Given the description of an element on the screen output the (x, y) to click on. 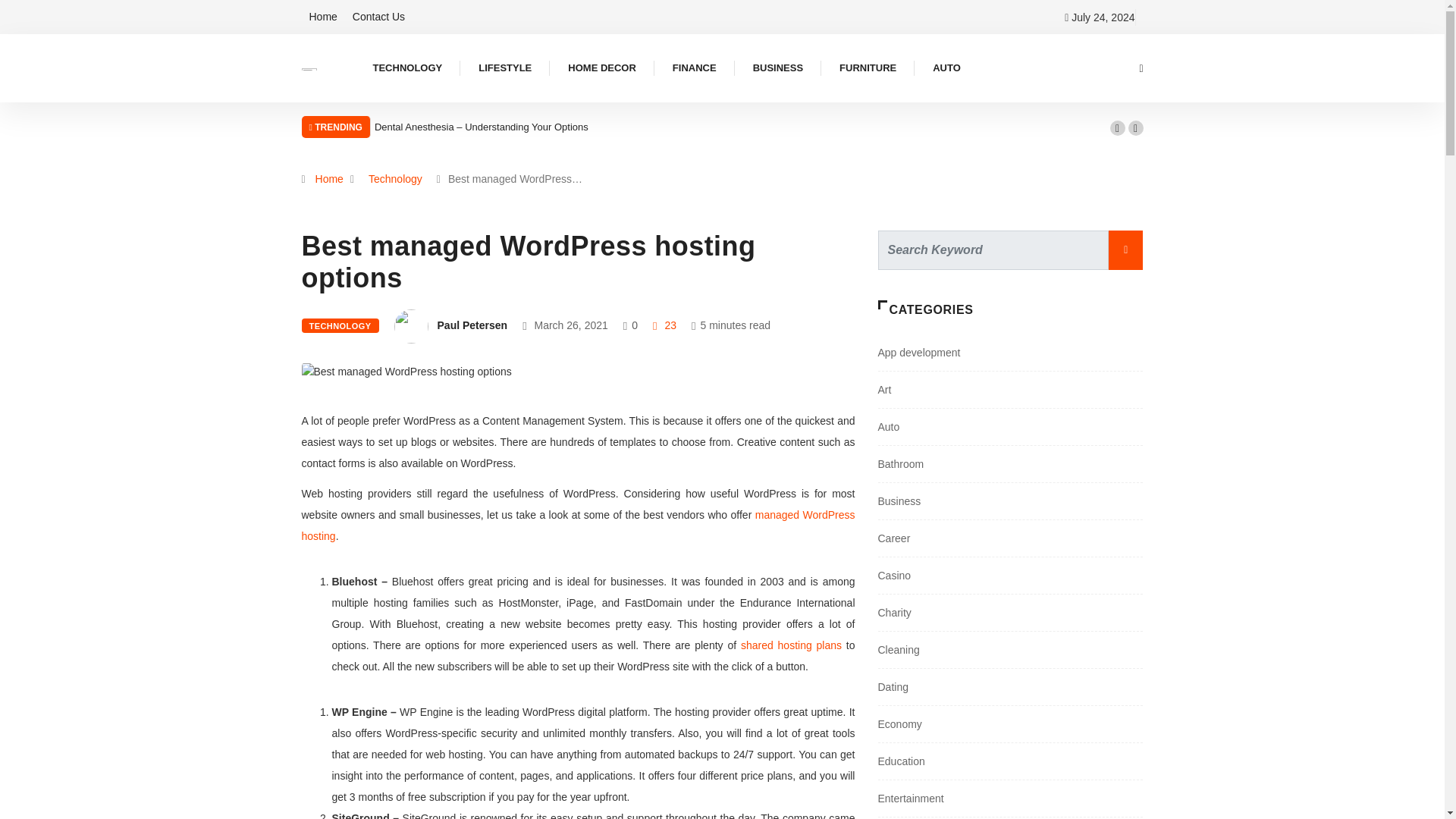
TECHNOLOGY (407, 68)
shared hosting plans (791, 645)
Bathroom (900, 463)
Casino (894, 575)
Paul Petersen (473, 325)
App development (918, 352)
Technology (395, 178)
Career (894, 538)
Auto (888, 426)
Business (899, 500)
Home (322, 16)
Home (329, 178)
Art (884, 389)
managed WordPress hosting (578, 525)
TECHNOLOGY (339, 325)
